Given the description of an element on the screen output the (x, y) to click on. 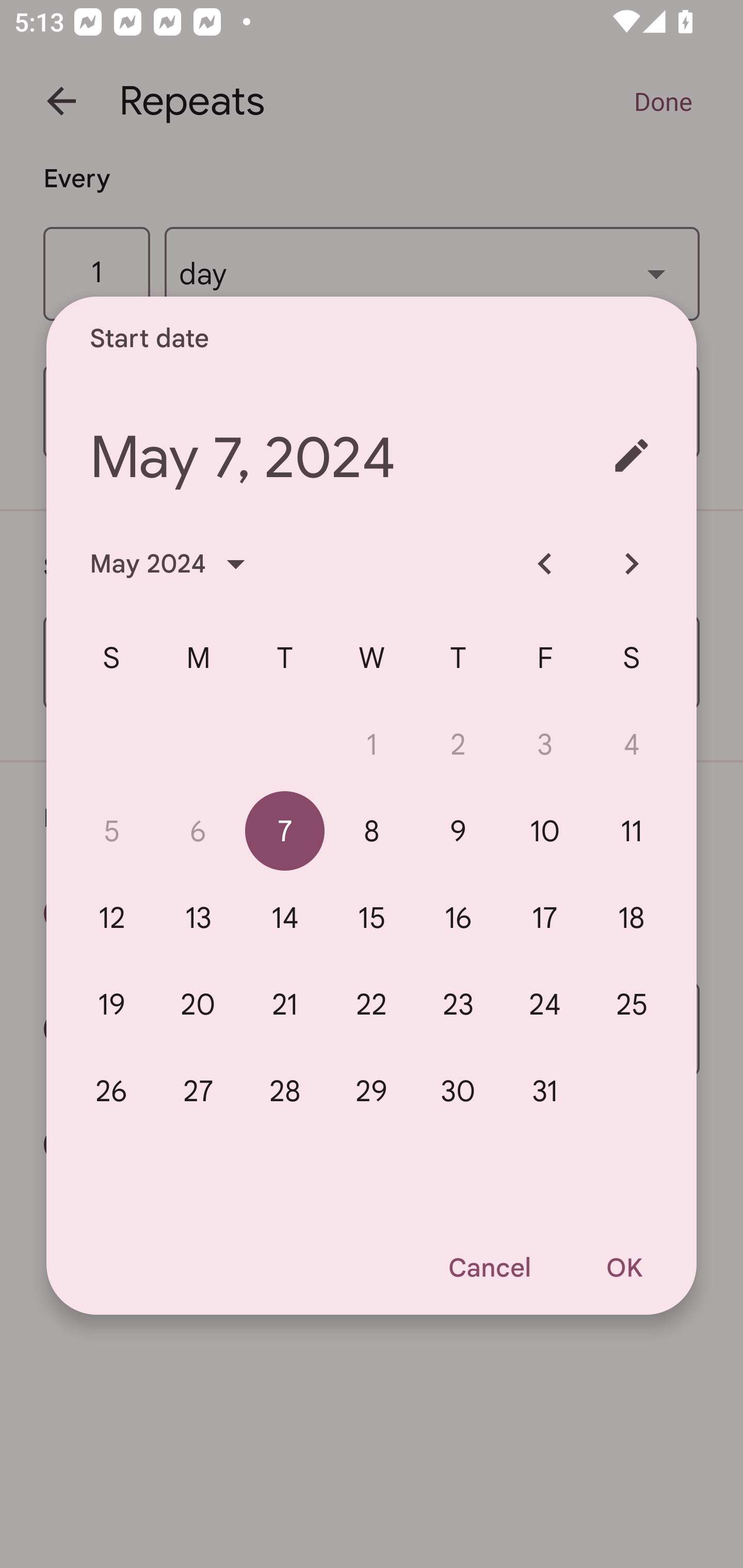
Switch to text input mode (631, 455)
May 2024 (173, 563)
Change to previous month (544, 563)
Change to next month (631, 563)
1 Wednesday, May 1 (371, 743)
2 Thursday, May 2 (457, 743)
3 Friday, May 3 (544, 743)
4 Saturday, May 4 (631, 743)
5 Sunday, May 5 (111, 830)
6 Monday, May 6 (197, 830)
7 Today Tuesday, May 7 (284, 830)
8 Wednesday, May 8 (371, 830)
9 Thursday, May 9 (457, 830)
10 Friday, May 10 (544, 830)
11 Saturday, May 11 (631, 830)
12 Sunday, May 12 (111, 917)
13 Monday, May 13 (197, 917)
14 Tuesday, May 14 (284, 917)
15 Wednesday, May 15 (371, 917)
16 Thursday, May 16 (457, 917)
17 Friday, May 17 (544, 917)
18 Saturday, May 18 (631, 917)
19 Sunday, May 19 (111, 1004)
20 Monday, May 20 (197, 1004)
21 Tuesday, May 21 (284, 1004)
22 Wednesday, May 22 (371, 1004)
23 Thursday, May 23 (457, 1004)
24 Friday, May 24 (544, 1004)
25 Saturday, May 25 (631, 1004)
26 Sunday, May 26 (111, 1090)
27 Monday, May 27 (197, 1090)
28 Tuesday, May 28 (284, 1090)
29 Wednesday, May 29 (371, 1090)
30 Thursday, May 30 (457, 1090)
31 Friday, May 31 (544, 1090)
Cancel (489, 1267)
OK (624, 1267)
